Given the description of an element on the screen output the (x, y) to click on. 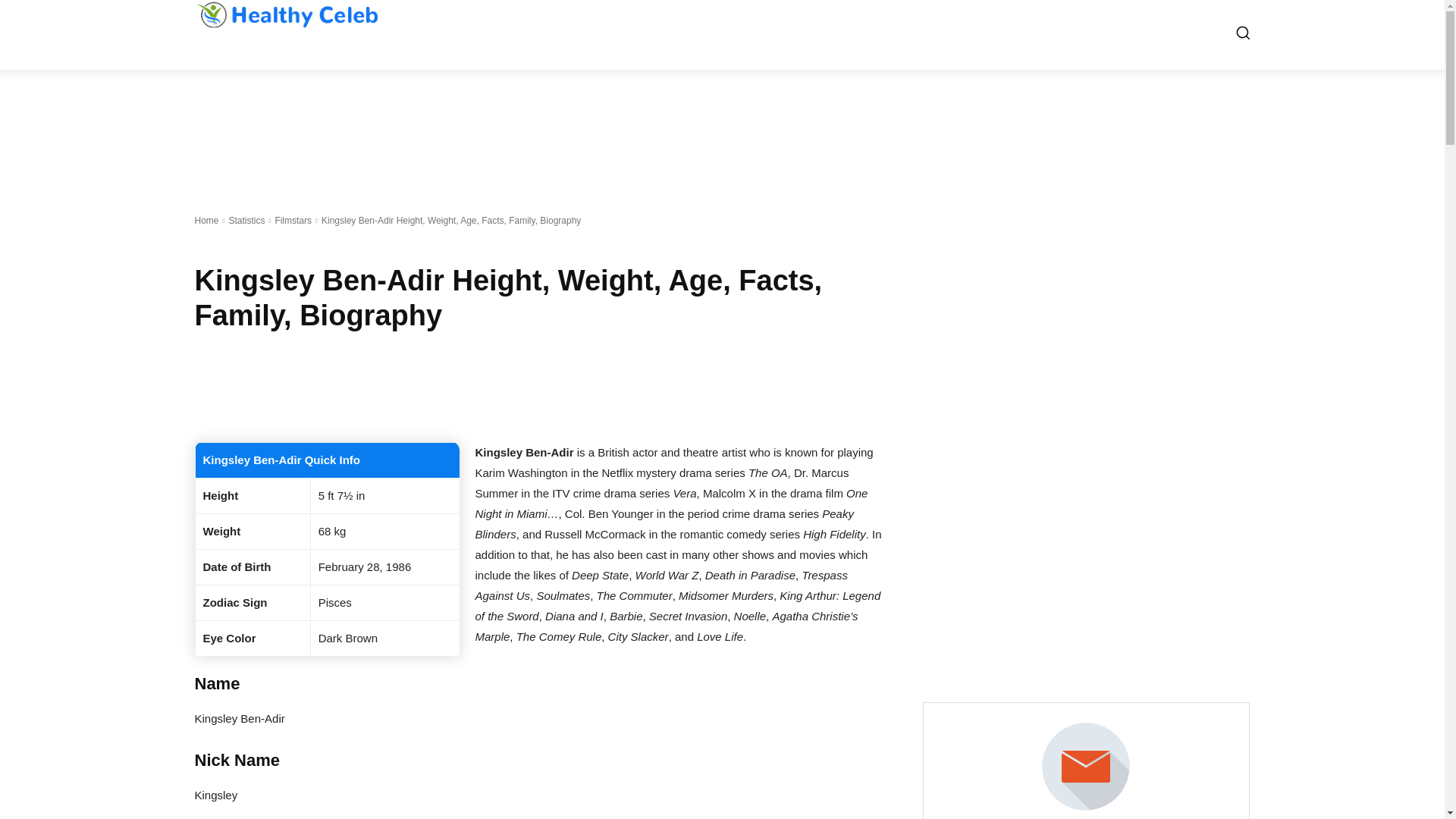
Healthy Celeb (285, 14)
View all posts in Statistics (246, 220)
View all posts in Filmstars (293, 220)
